Given the description of an element on the screen output the (x, y) to click on. 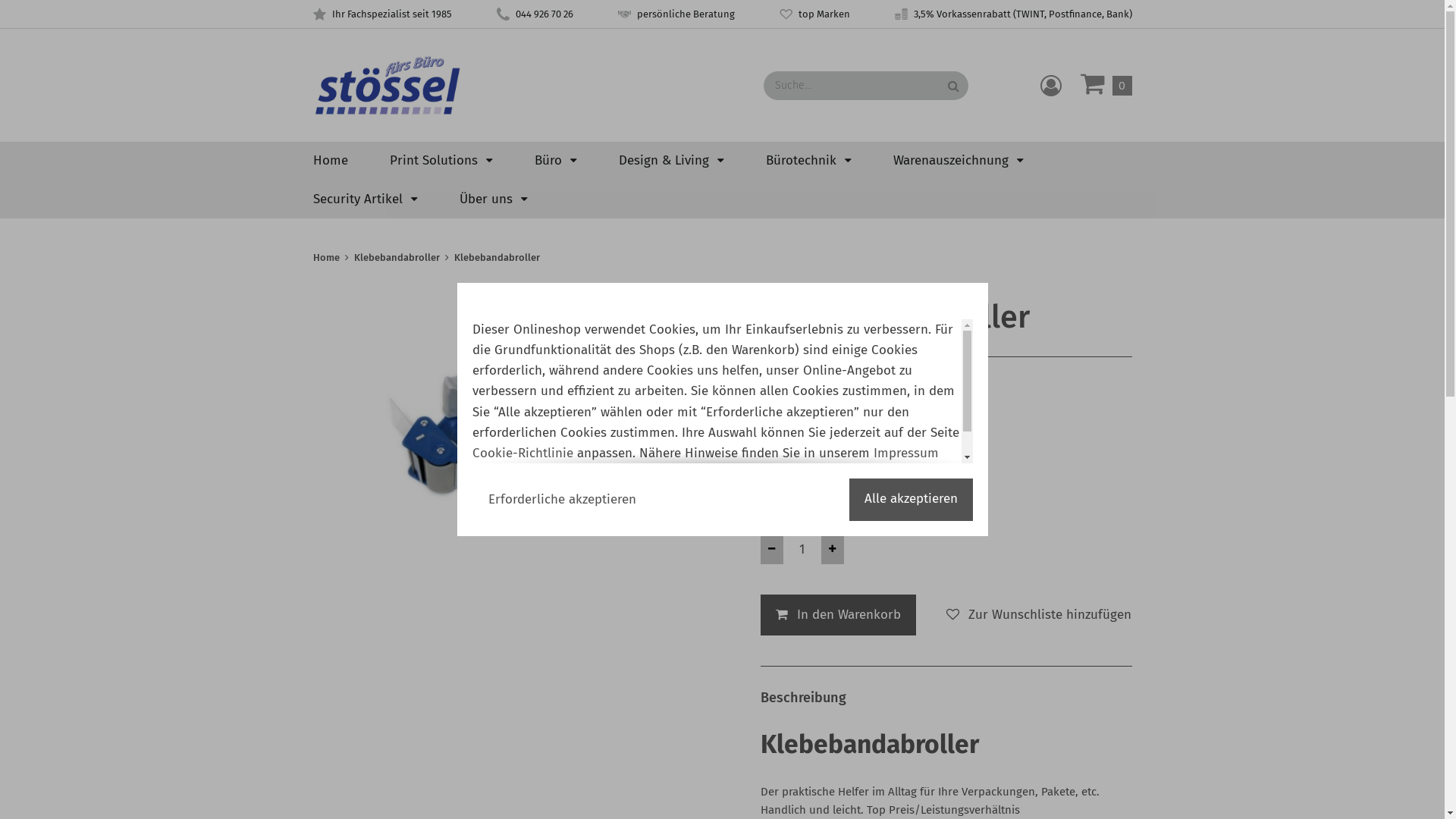
Klebebandabroller Element type: text (396, 257)
Warenauszeichnung Element type: text (958, 160)
zzgl. Versand Element type: text (846, 417)
Print Solutions Element type: text (440, 160)
Home Element type: text (325, 257)
Erforderliche akzeptieren Element type: text (561, 499)
Warenkorb anzeigen. Sie haben 0 Artikel im Warenkorb.
0 Element type: text (1105, 85)
Design & Living Element type: text (671, 160)
Klebebandabroller Element type: text (496, 257)
Suche Element type: text (952, 85)
Home Element type: text (329, 160)
Security Artikel Element type: text (364, 199)
Alle akzeptieren Element type: text (910, 499)
In den Warenkorb Element type: text (837, 615)
Impressum Element type: text (905, 453)
Cookie-Richtlinie Element type: text (521, 453)
